Given the description of an element on the screen output the (x, y) to click on. 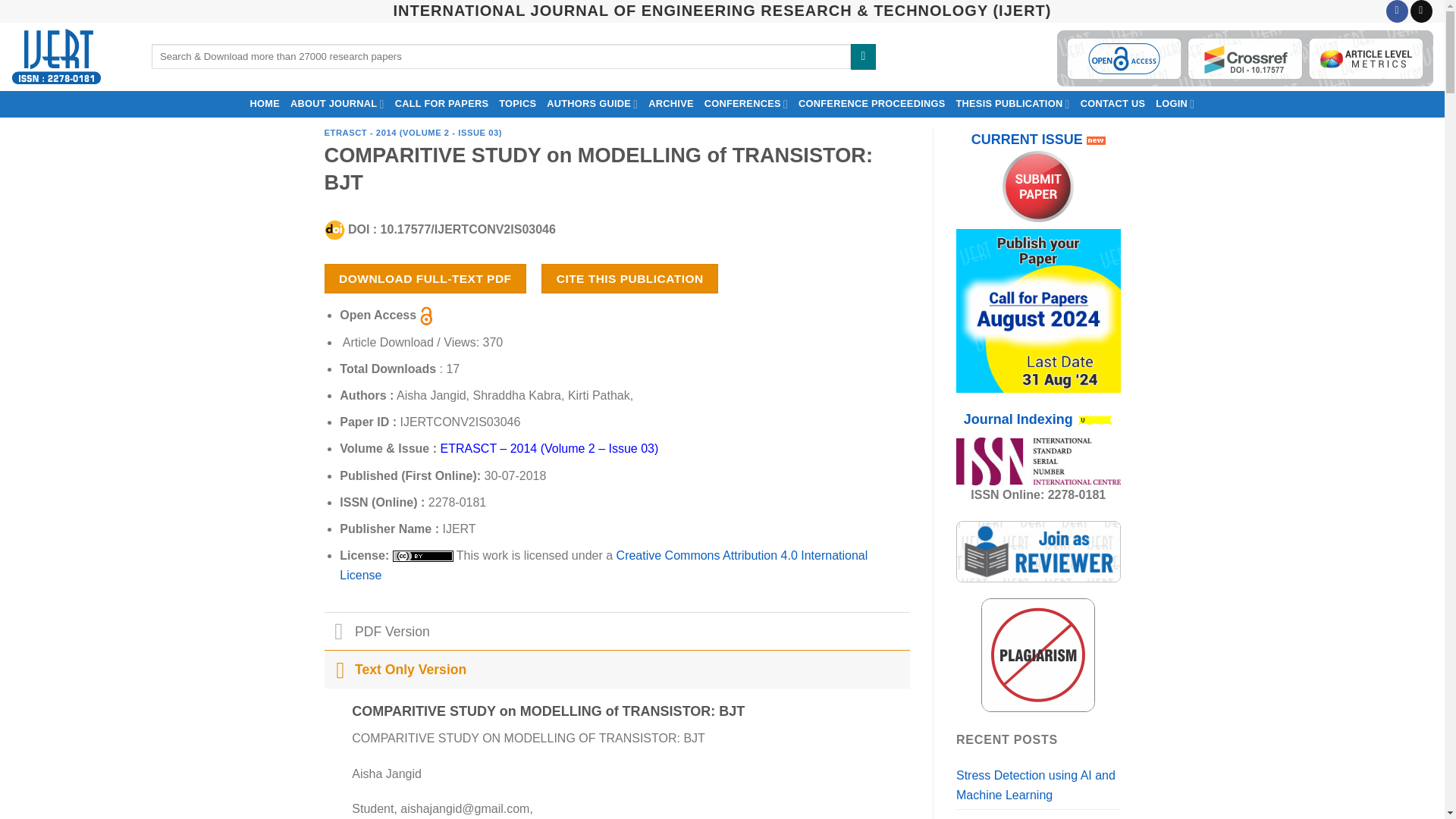
THESIS PUBLICATION (1012, 103)
CONFERENCES (745, 103)
CONTACT US (1113, 103)
ARCHIVE (670, 103)
CONFERENCE PROCEEDINGS (871, 103)
Send us an email (1421, 11)
LOGIN (1174, 103)
TOPICS (517, 103)
AUTHORS GUIDE (592, 103)
